Given the description of an element on the screen output the (x, y) to click on. 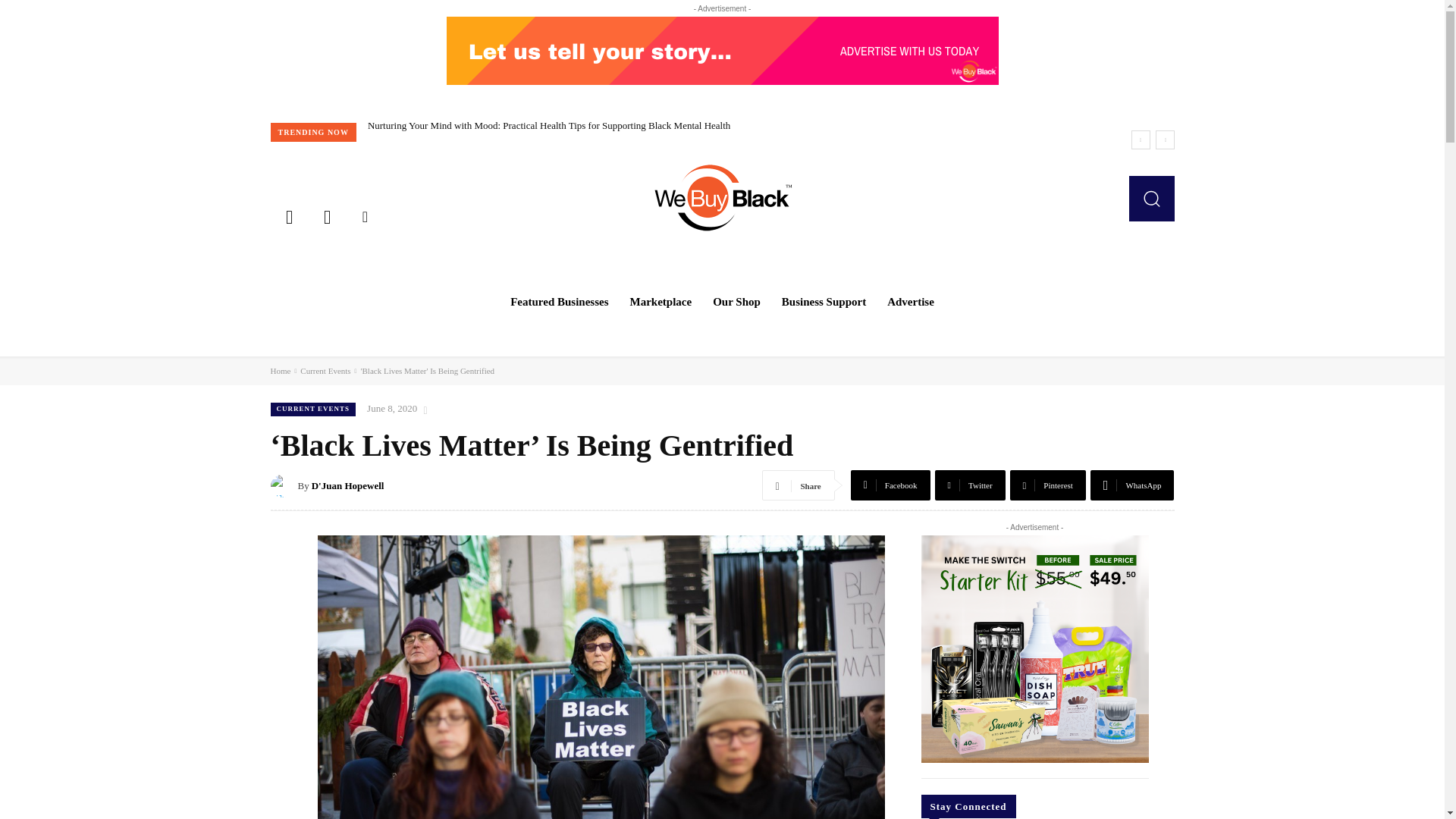
Instagram (326, 216)
Facebook (288, 216)
Advertise (910, 301)
Marketplace (661, 301)
Featured Businesses (558, 301)
Twitter (365, 216)
Our Shop (736, 301)
Business Support (823, 301)
